Given the description of an element on the screen output the (x, y) to click on. 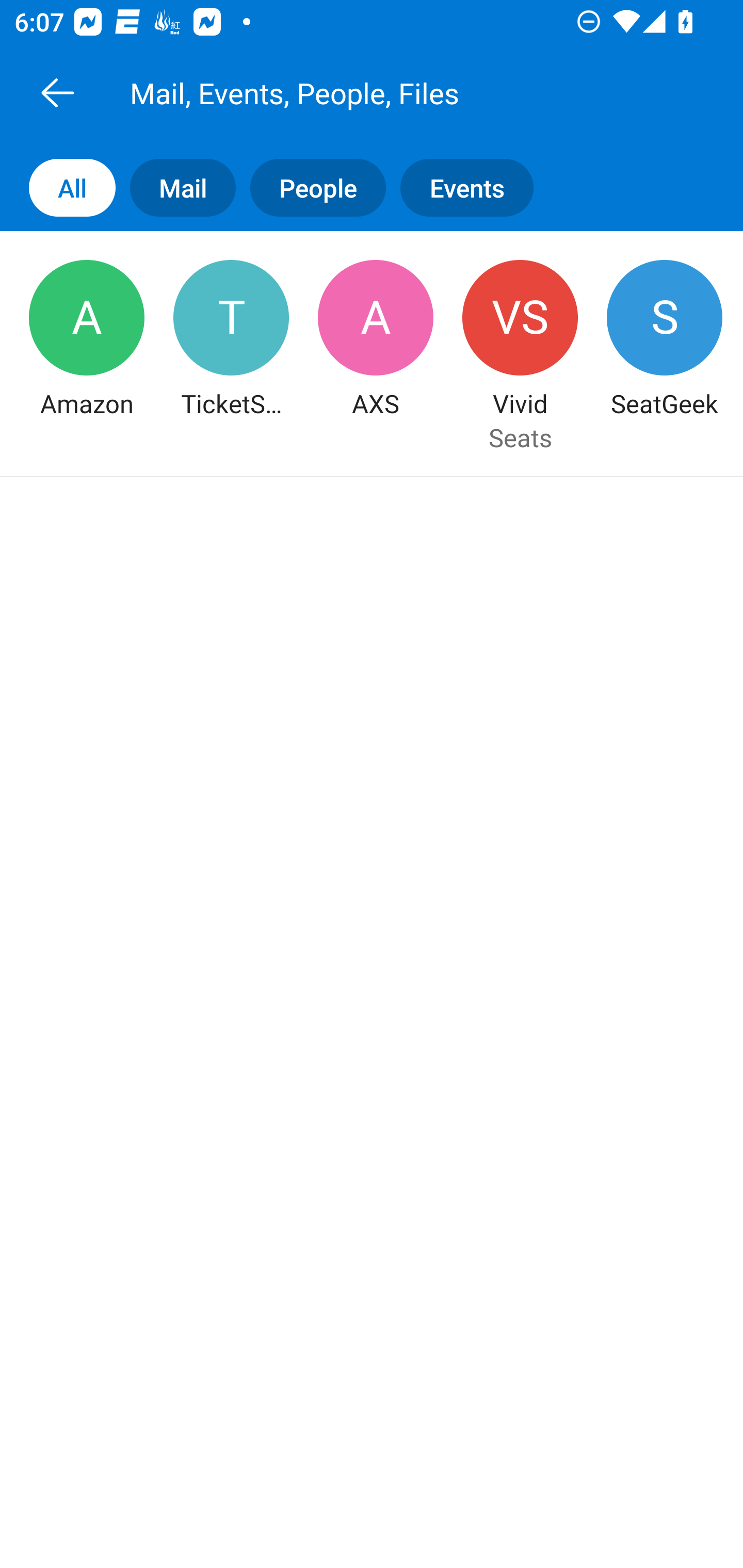
Back (57, 92)
Mail, Events, People, Files (394, 92)
Mail (175, 187)
People (310, 187)
Events (473, 187)
